Given the description of an element on the screen output the (x, y) to click on. 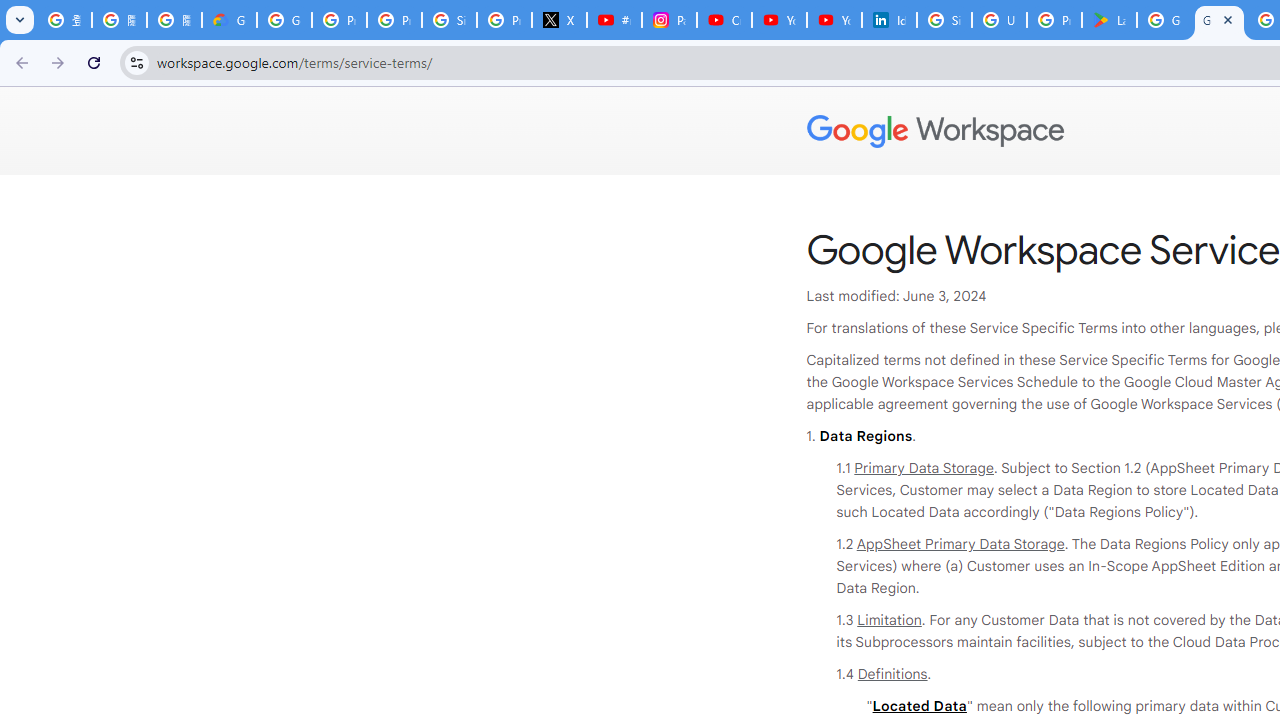
Identity verification via Persona | LinkedIn Help (888, 20)
Sign in - Google Accounts (943, 20)
Forward (57, 62)
Search tabs (20, 20)
Google Workspace - Specific Terms (1218, 20)
YouTube Culture & Trends - YouTube Top 10, 2021 (833, 20)
Privacy Help Center - Policies Help (394, 20)
